Given the description of an element on the screen output the (x, y) to click on. 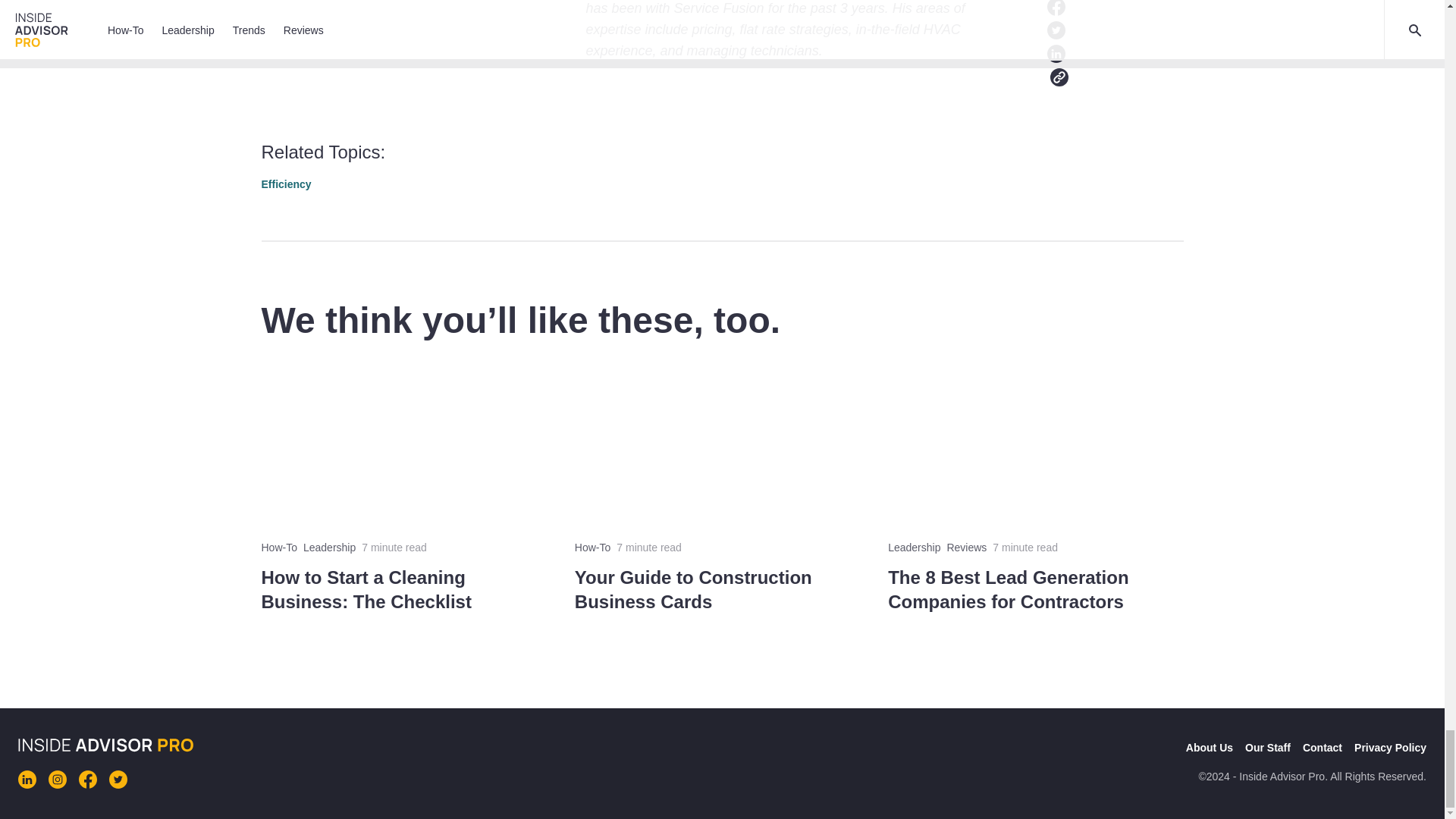
Copy Link (1170, 179)
Facebook (1097, 179)
LinkedIn (1146, 179)
Twitter (1121, 179)
